Given the description of an element on the screen output the (x, y) to click on. 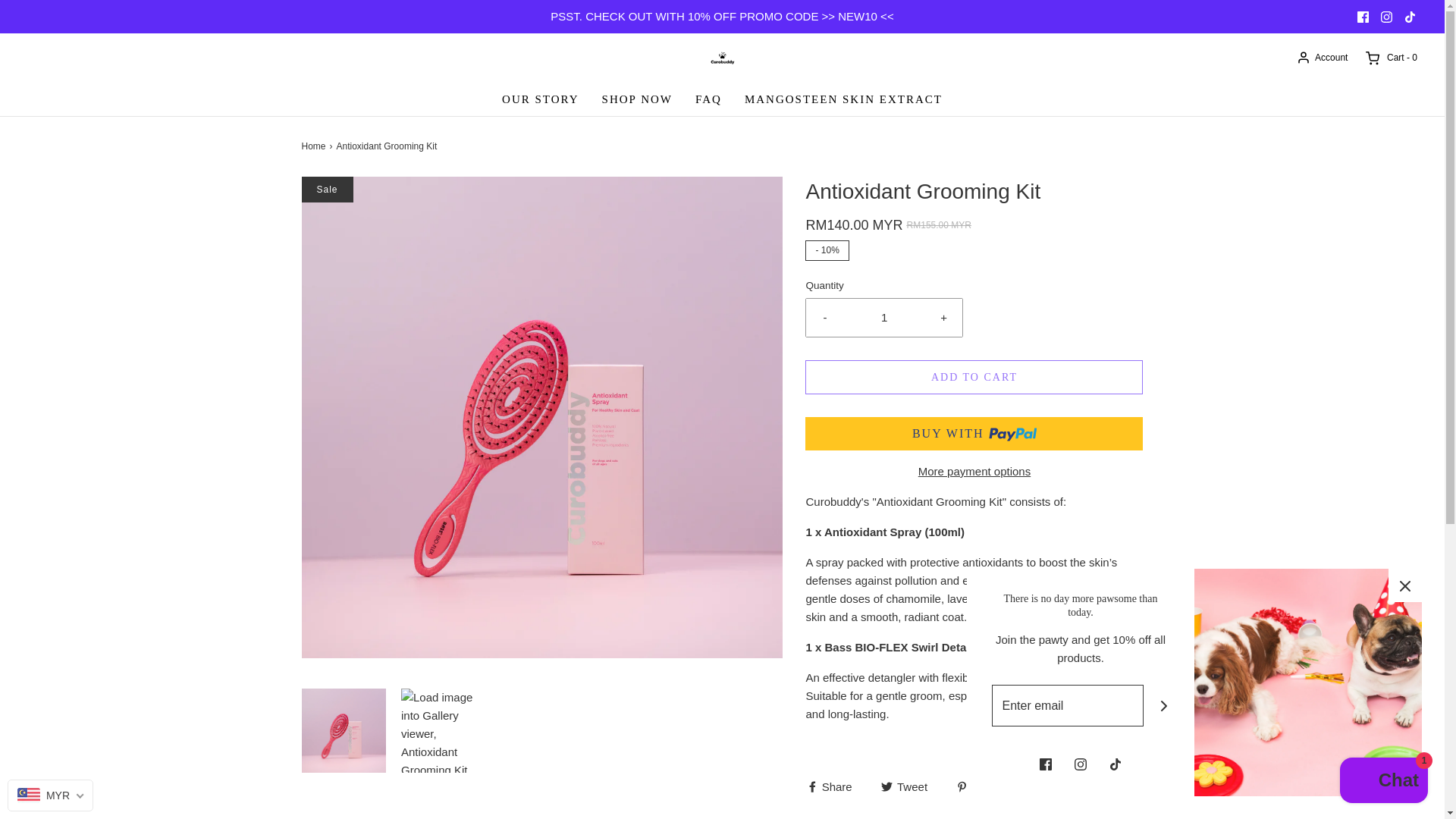
Facebook icon (1362, 16)
SHOP NOW (637, 99)
TikTok icon (1409, 15)
Account (1321, 57)
Home (315, 146)
Instagram icon (1385, 15)
Cart (1390, 57)
TikTok icon (1410, 16)
ADD TO CART (973, 376)
Shopify online store chat (1383, 781)
Pin it (976, 785)
More payment options (973, 471)
Tweet (905, 785)
Cart - 0 (1390, 57)
Log in (1321, 57)
